Given the description of an element on the screen output the (x, y) to click on. 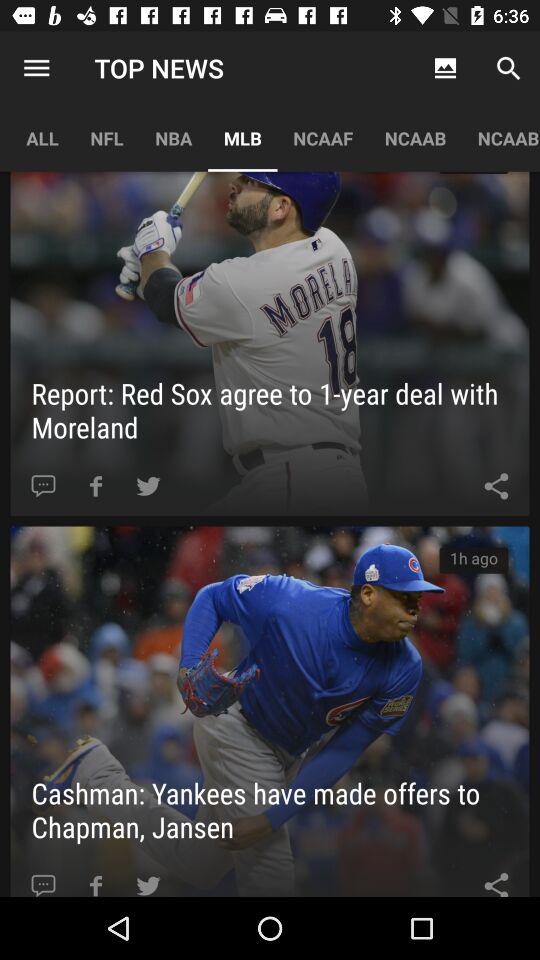
tap the icon next to the ncaabbl icon (415, 138)
